Given the description of an element on the screen output the (x, y) to click on. 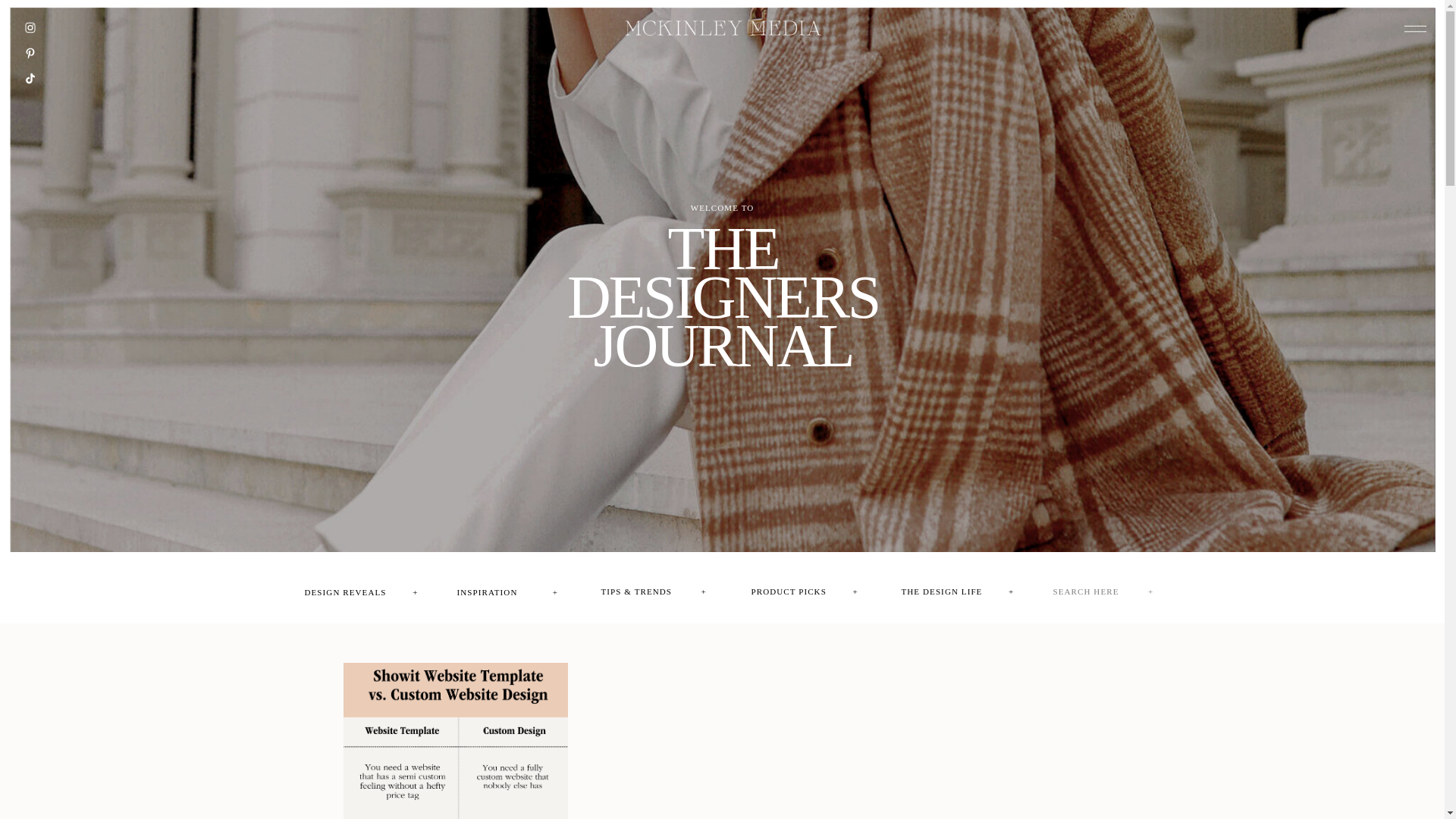
Showit Website Templates VS. Custom Showit  Design (454, 740)
THE DESIGNERS JOURNAL (723, 274)
Showit Website Templates VS. Custom Showit  Design (723, 274)
